Given the description of an element on the screen output the (x, y) to click on. 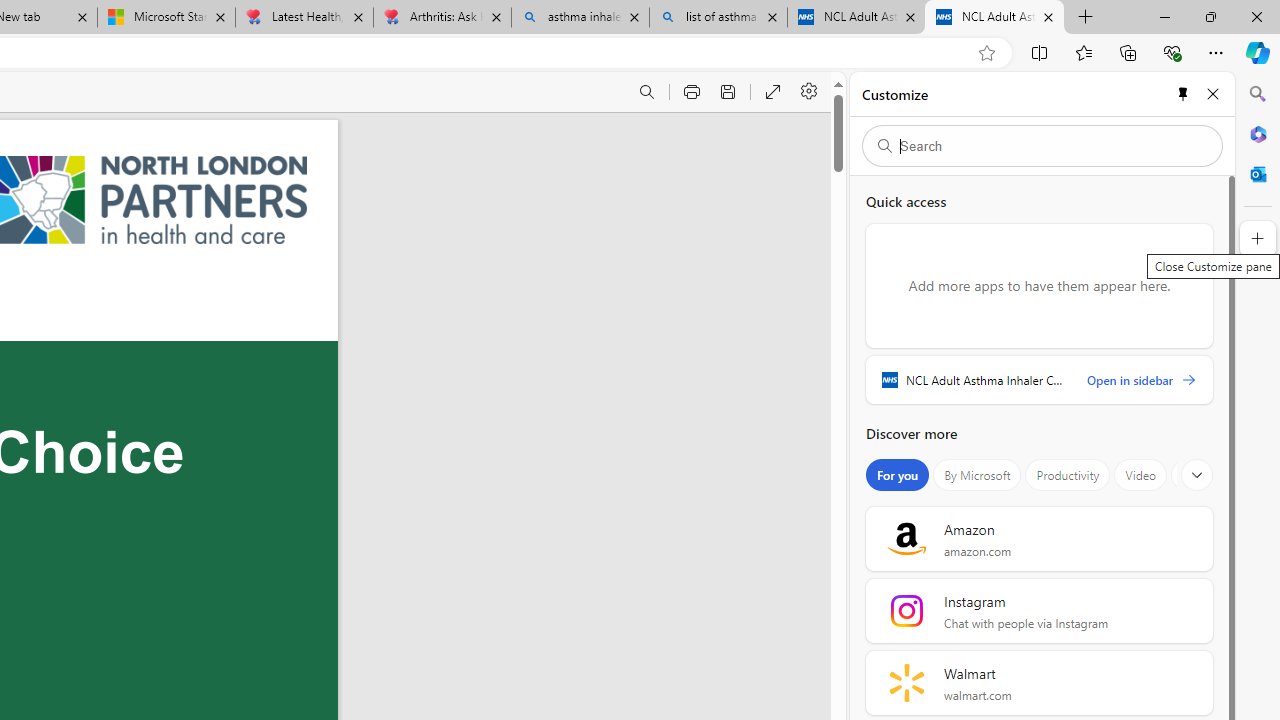
asthma inhaler - Search (580, 17)
